Given the description of an element on the screen output the (x, y) to click on. 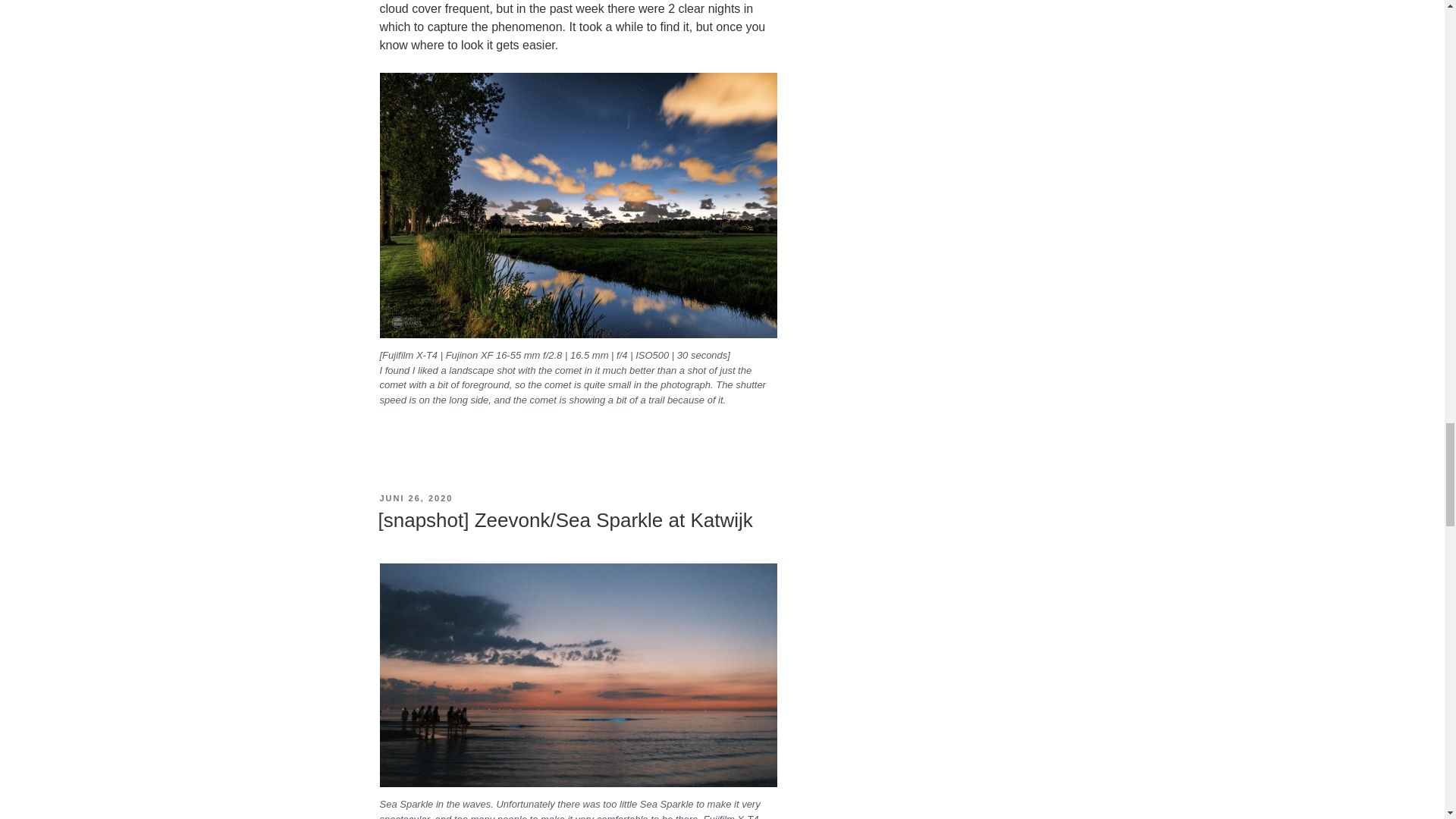
JUNI 26, 2020 (415, 497)
